Given the description of an element on the screen output the (x, y) to click on. 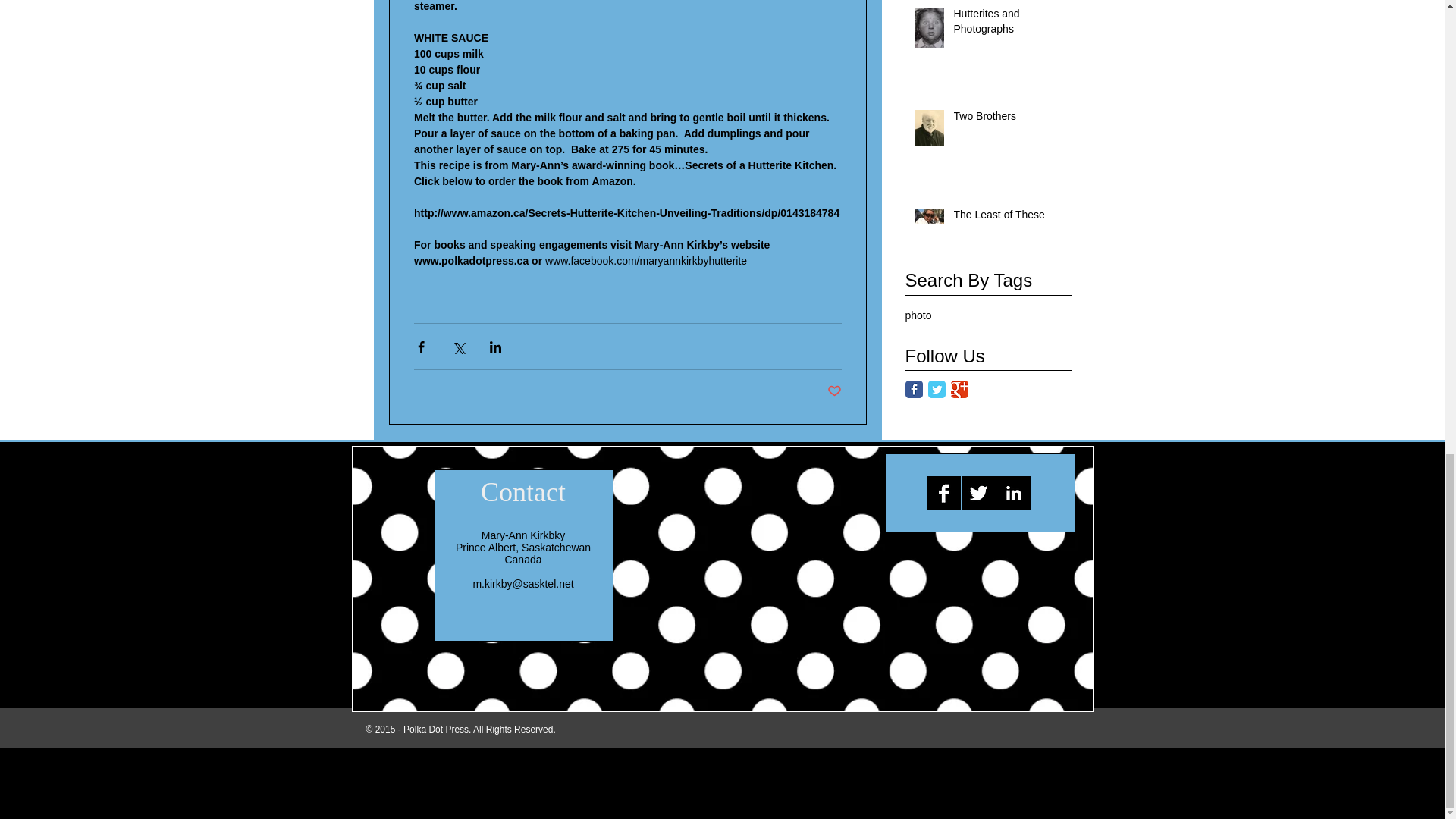
Hutterites and Photographs (1007, 24)
Two Brothers (1007, 119)
The Least of These (1007, 218)
Post not marked as liked (834, 391)
photo (918, 315)
